Given the description of an element on the screen output the (x, y) to click on. 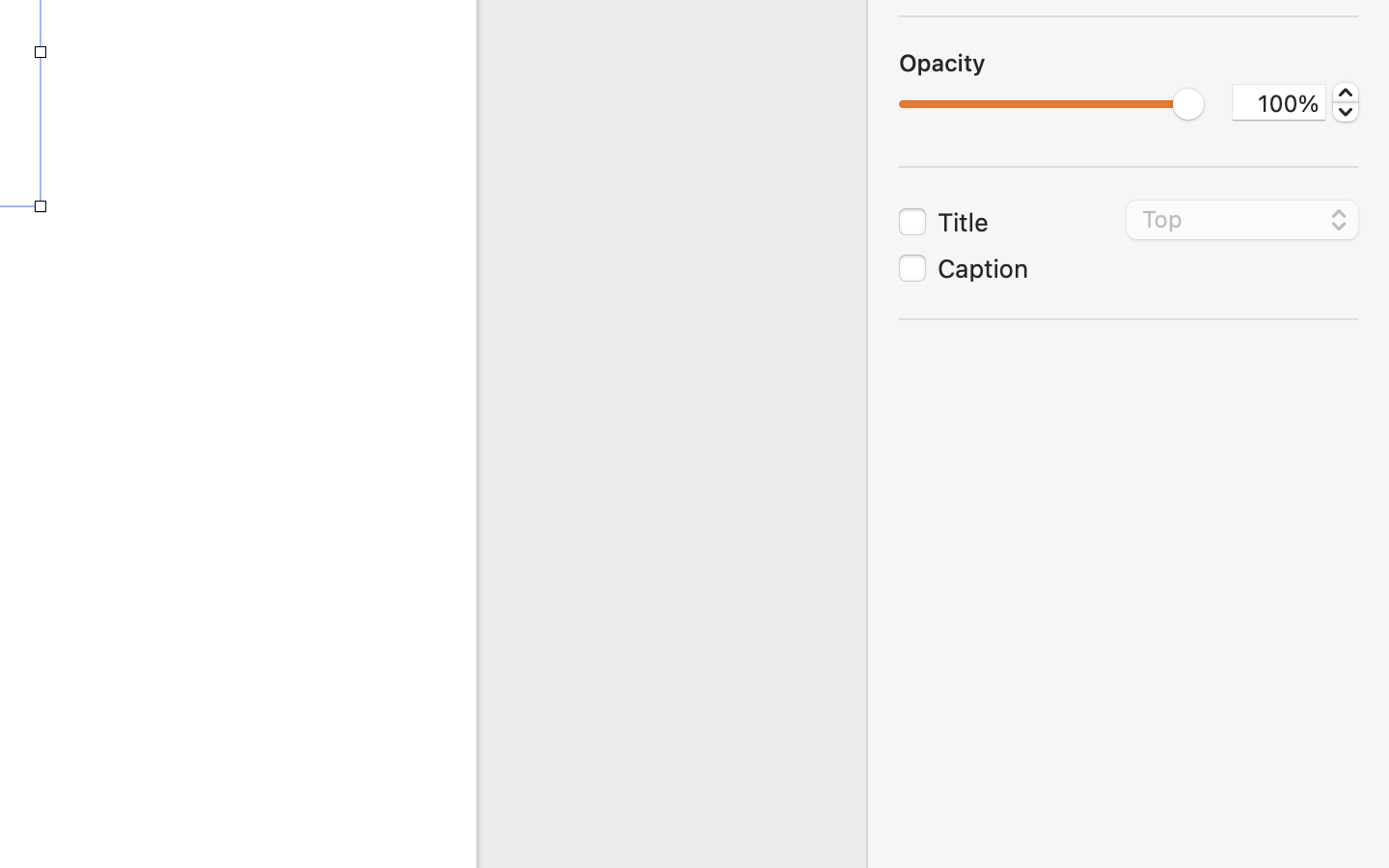
100% Element type: AXTextField (1278, 101)
Top Element type: AXPopUpButton (1242, 222)
1.0 Element type: AXIncrementor (1345, 102)
1.0 Element type: AXSlider (1051, 103)
